Given the description of an element on the screen output the (x, y) to click on. 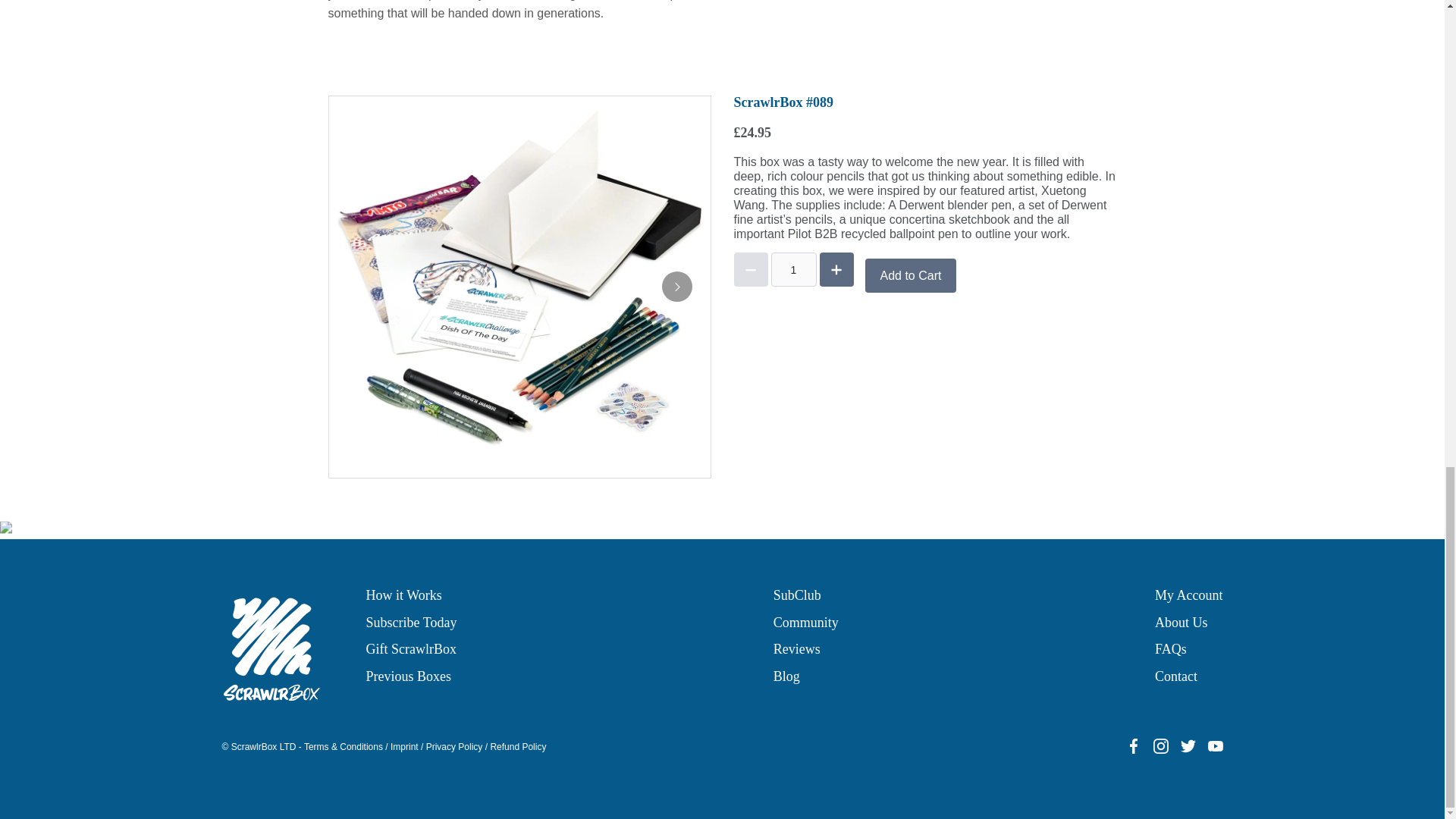
Instagram icon (1160, 745)
Twitter icon (1187, 745)
Facebook icon (1132, 745)
YouTube icon (1215, 745)
1 (792, 269)
